Given the description of an element on the screen output the (x, y) to click on. 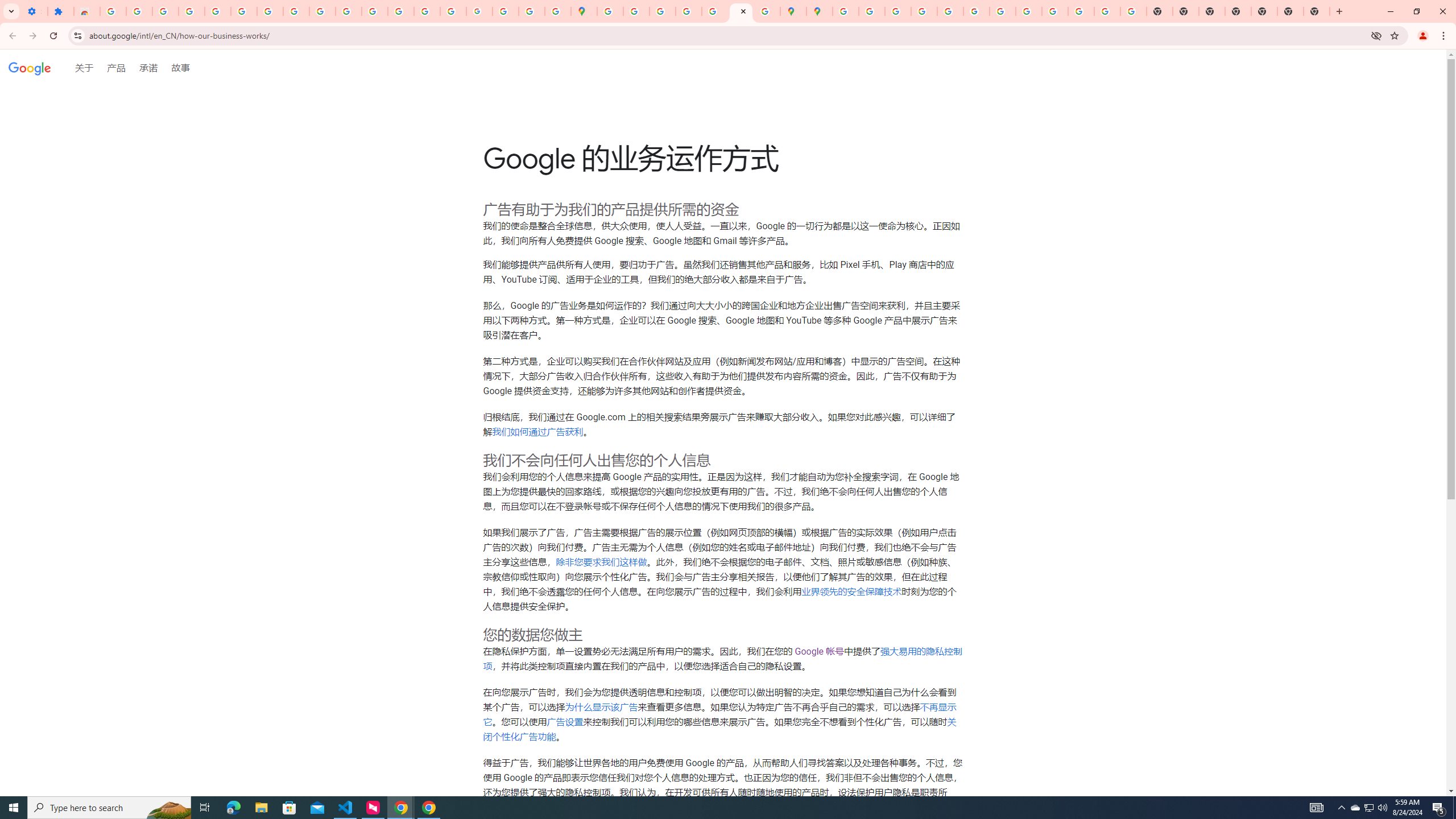
Privacy Help Center - Policies Help (897, 11)
Delete photos & videos - Computer - Google Photos Help (165, 11)
